Given the description of an element on the screen output the (x, y) to click on. 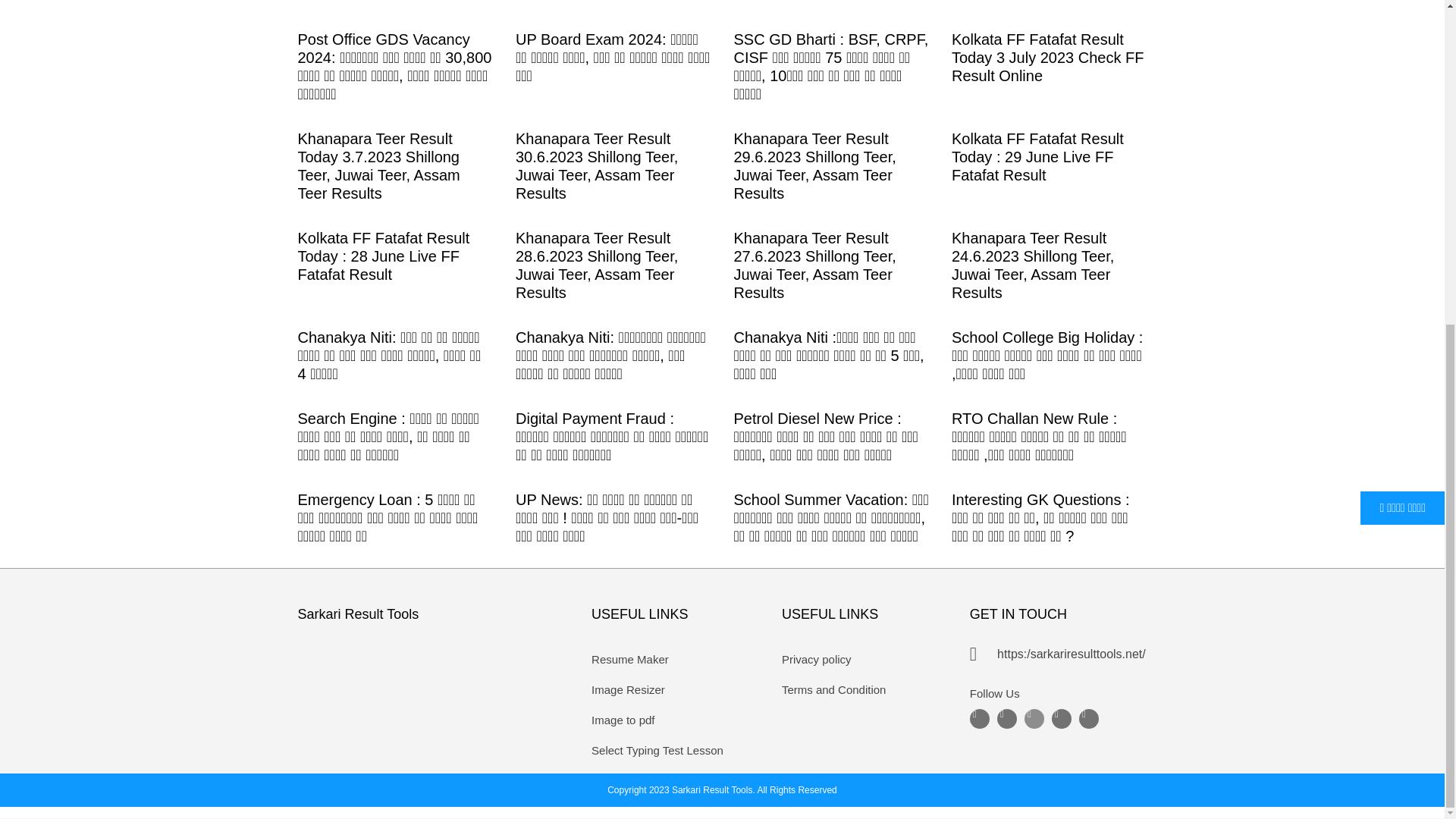
Advertisement (729, 248)
